Given the description of an element on the screen output the (x, y) to click on. 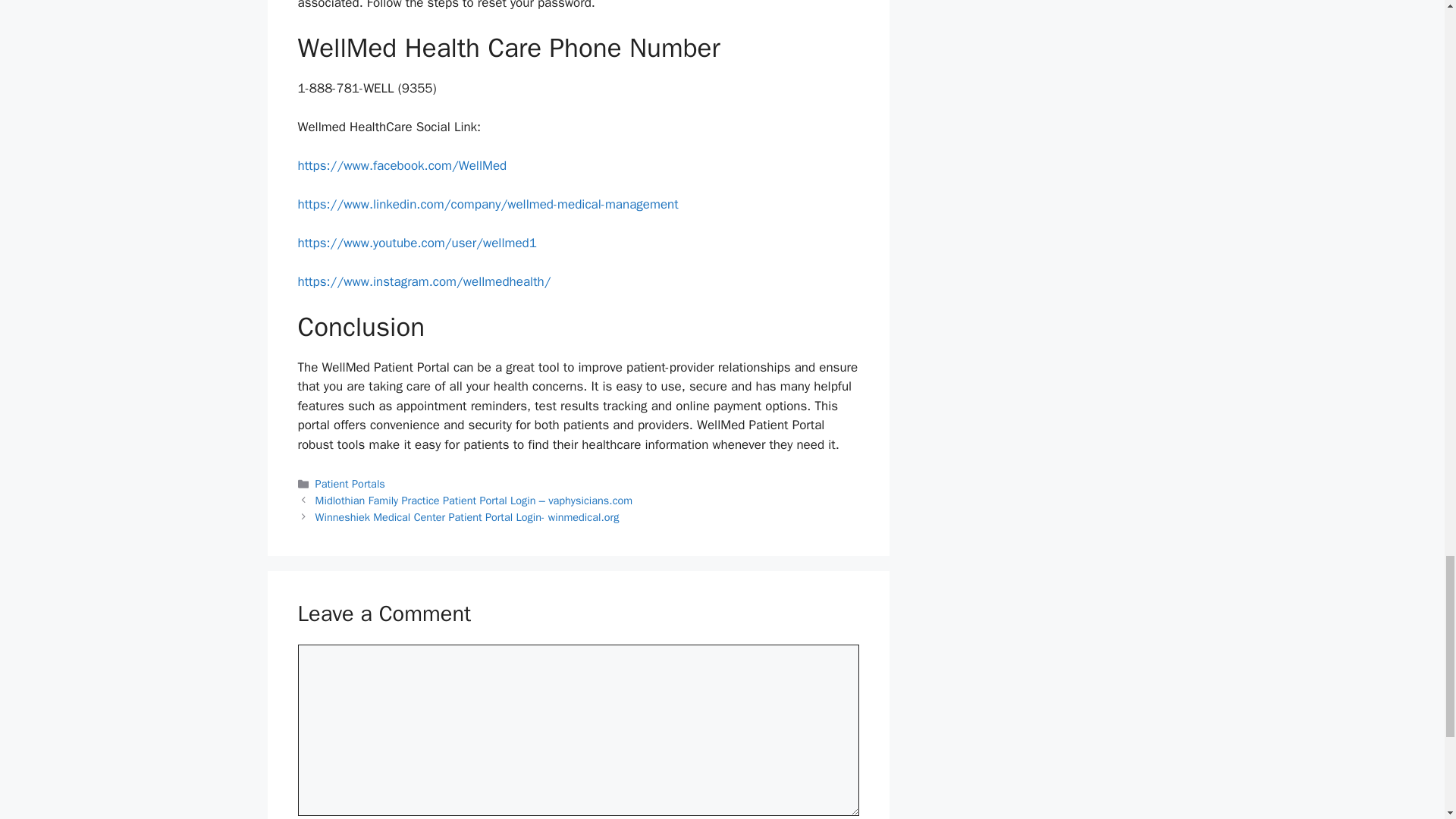
Previous (474, 499)
Patient Portals (350, 483)
Next (467, 517)
